Given the description of an element on the screen output the (x, y) to click on. 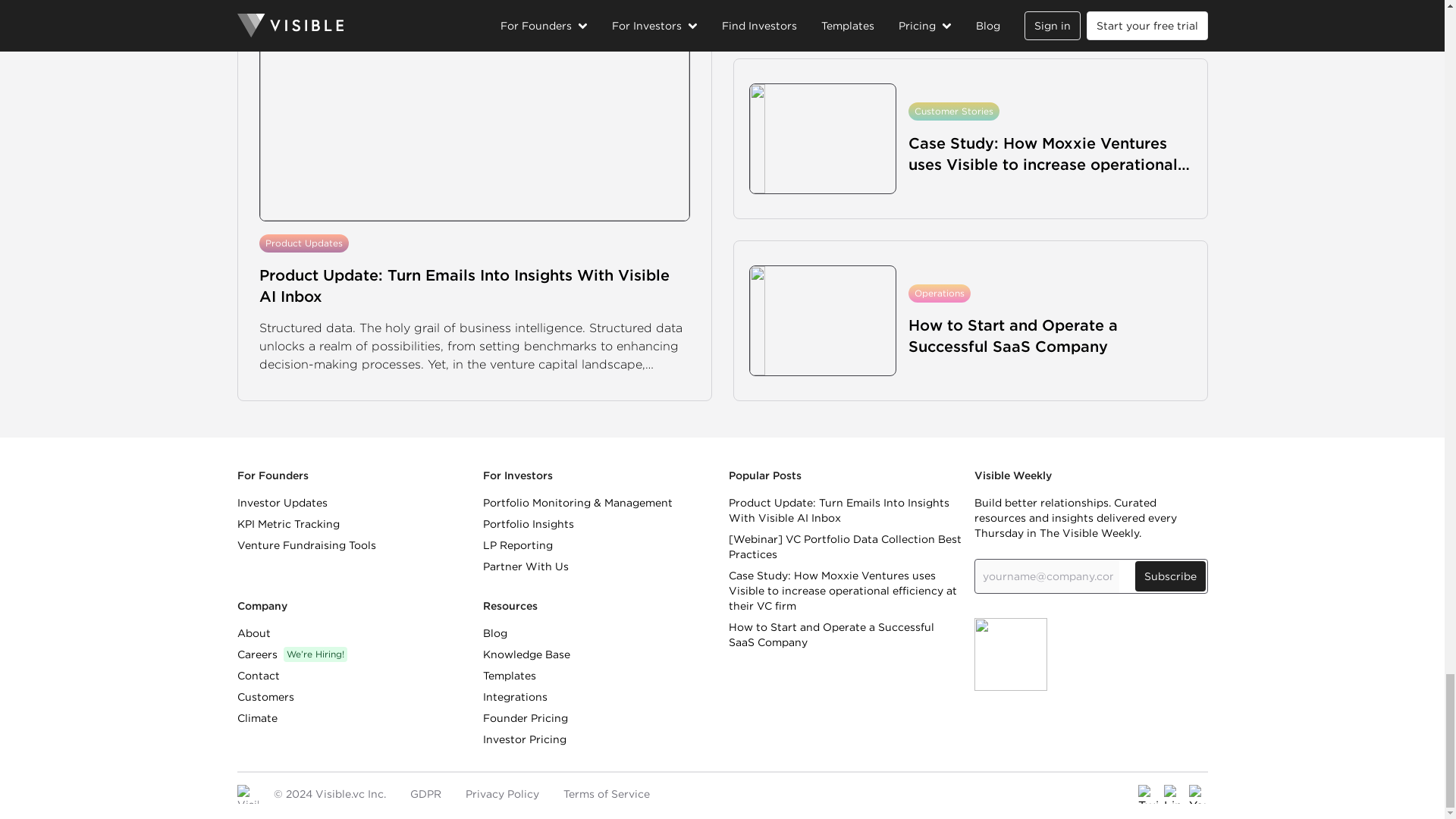
Subscribe (1169, 576)
